Given the description of an element on the screen output the (x, y) to click on. 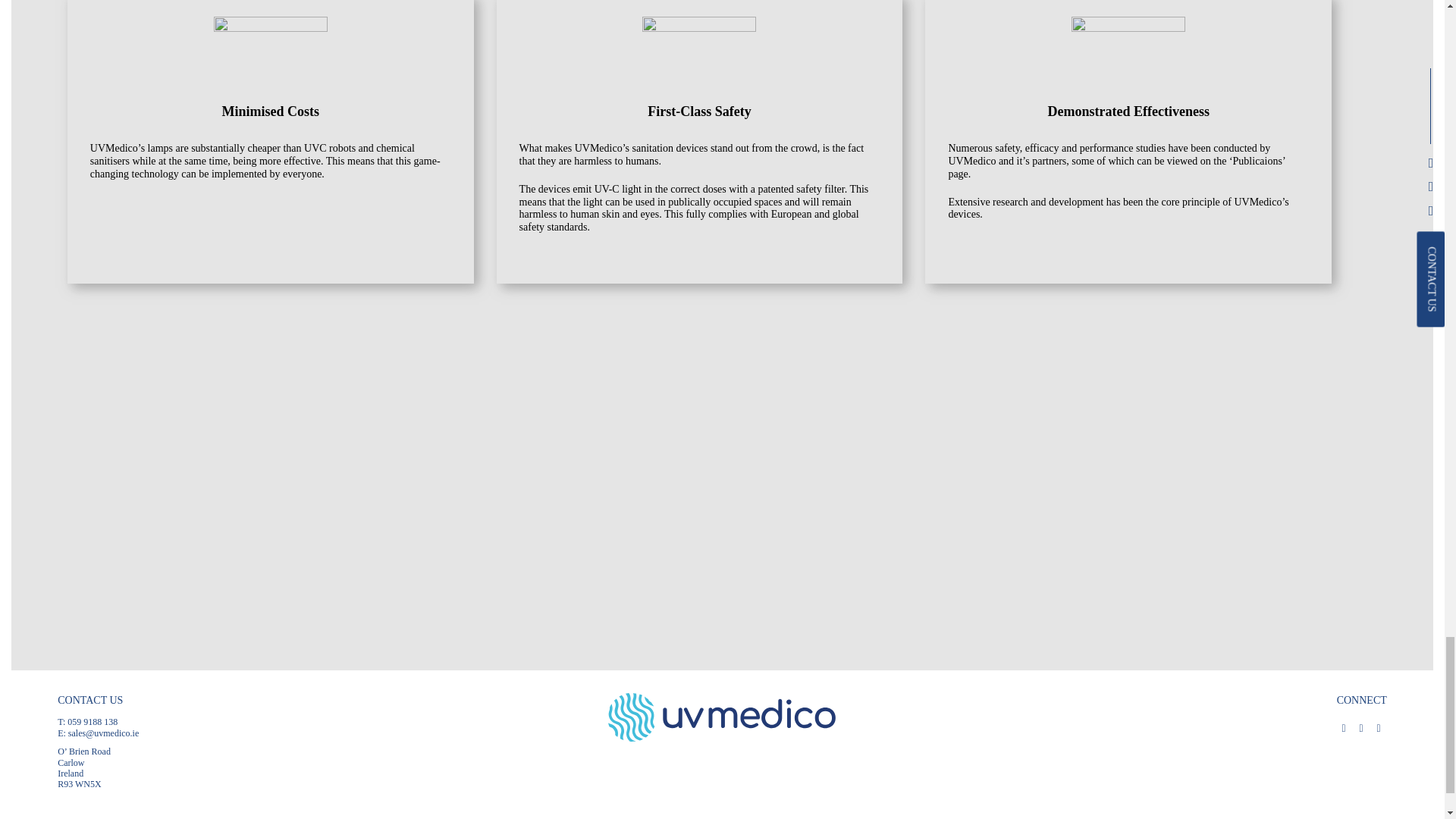
Linkedin (1378, 727)
Linkedin (1378, 727)
Instagram (1361, 727)
Facebook (1343, 727)
Instagram (1361, 727)
Facebook (1343, 727)
